Given the description of an element on the screen output the (x, y) to click on. 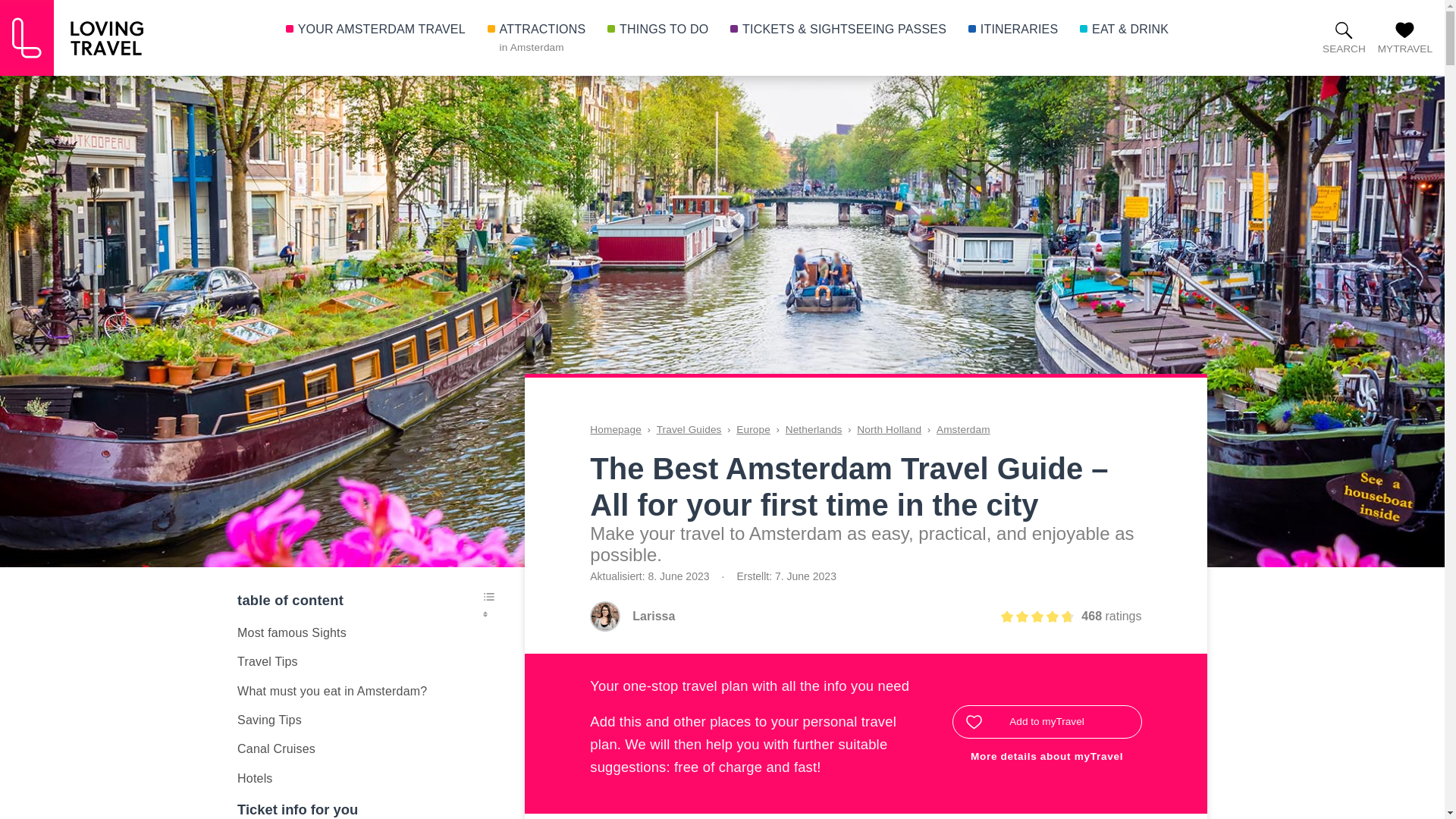
Profilbild von Larissa (604, 616)
